Given the description of an element on the screen output the (x, y) to click on. 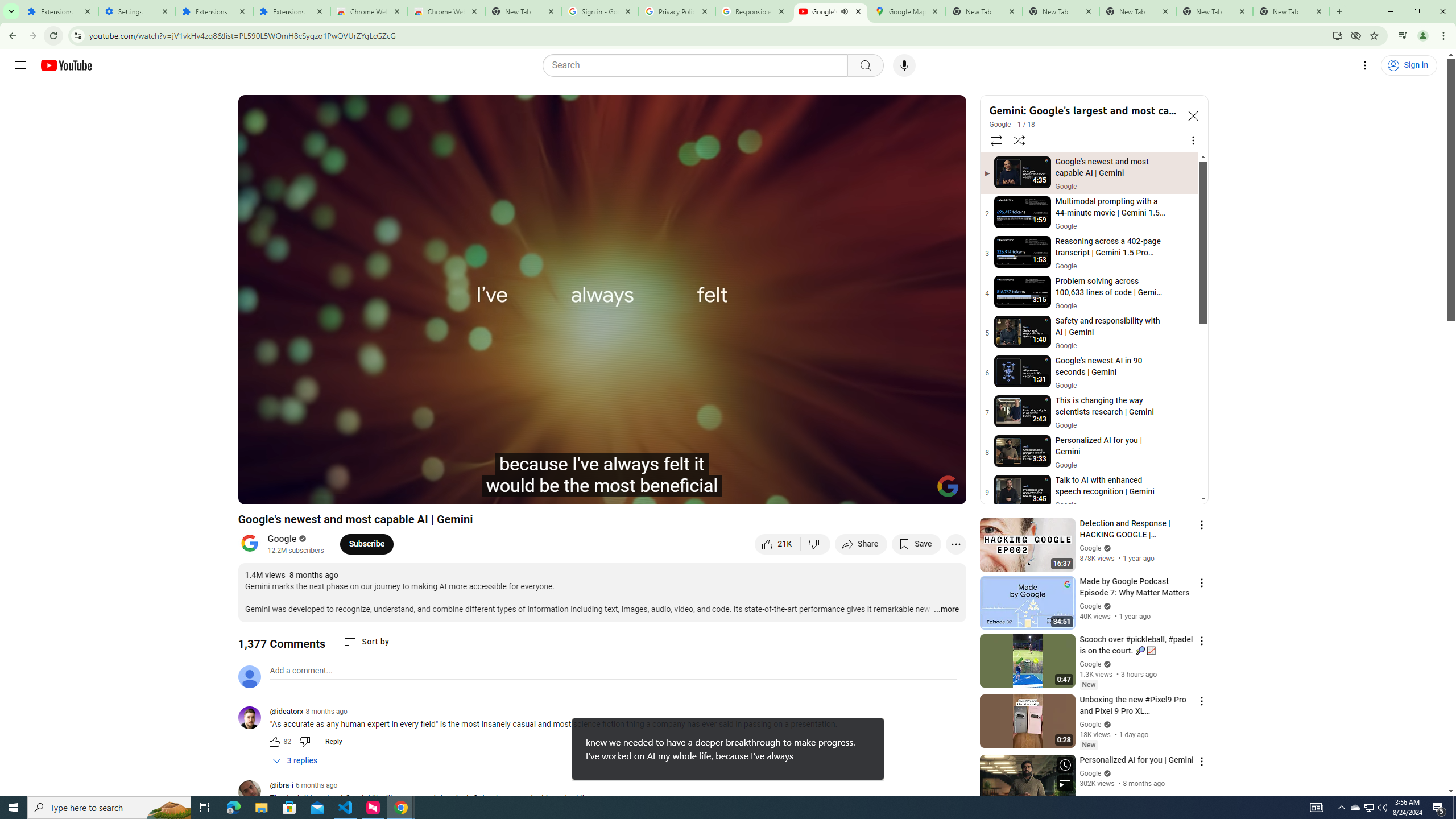
Chrome Web Store (368, 11)
Subscribe to Google. (366, 543)
Chrome Web Store - Themes (446, 11)
Shuffle playlist (1018, 140)
@ideatorx (253, 717)
Settings (136, 11)
Reply (333, 741)
